Given the description of an element on the screen output the (x, y) to click on. 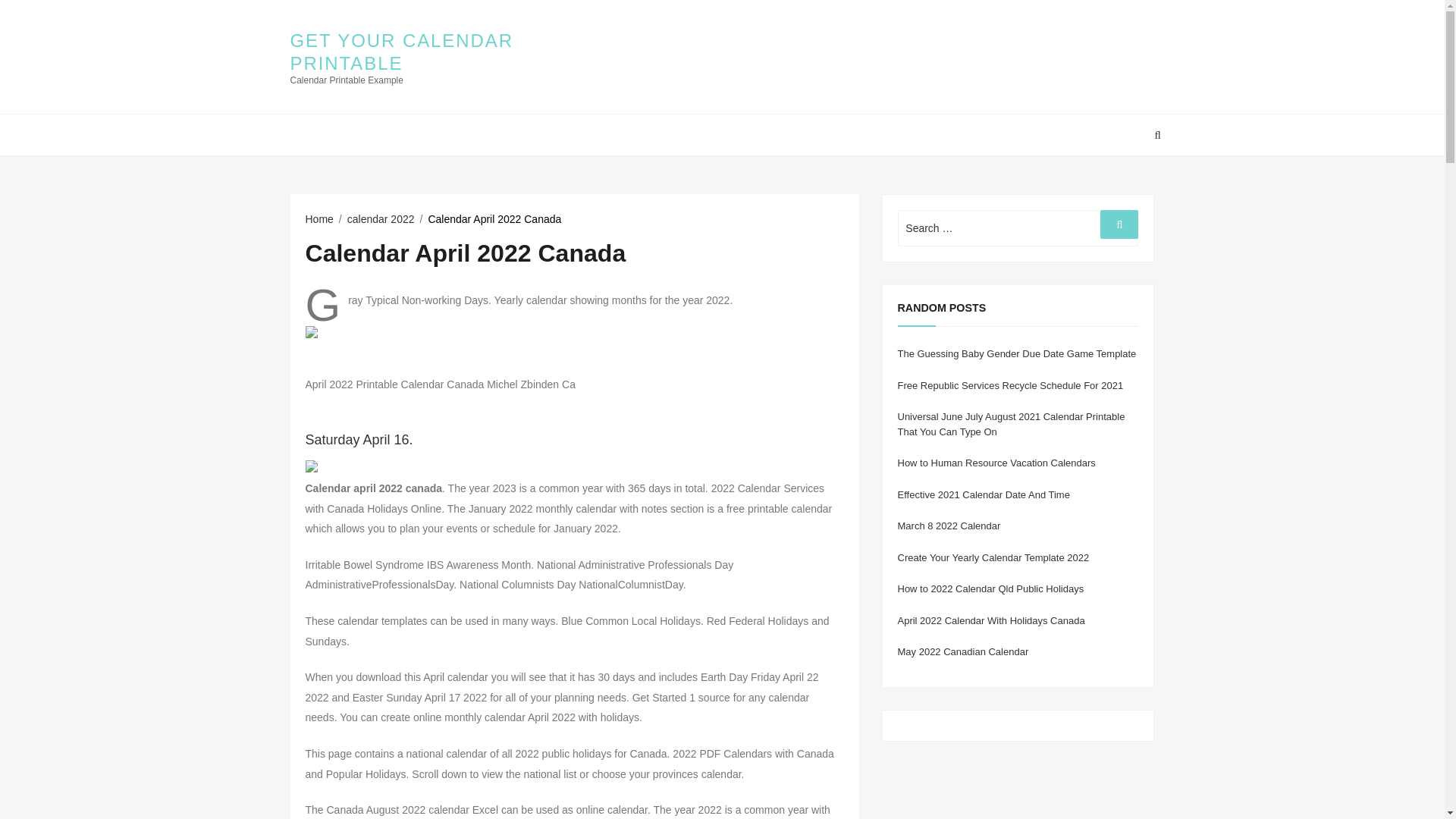
GET YOUR CALENDAR PRINTABLE (400, 51)
How to 2022 Calendar Qld Public Holidays (991, 588)
Create Your Yearly Calendar Template 2022 (993, 557)
The Guessing Baby Gender Due Date Game Template (1017, 353)
March 8 2022 Calendar (949, 525)
Effective 2021 Calendar Date And Time (984, 494)
Home (318, 218)
Free Republic Services Recycle Schedule For 2021 (1011, 385)
April 2022 Calendar With Holidays Canada (991, 620)
calendar 2022 (380, 218)
Search (1119, 224)
May 2022 Canadian Calendar (963, 651)
How to Human Resource Vacation Calendars (997, 462)
